Given the description of an element on the screen output the (x, y) to click on. 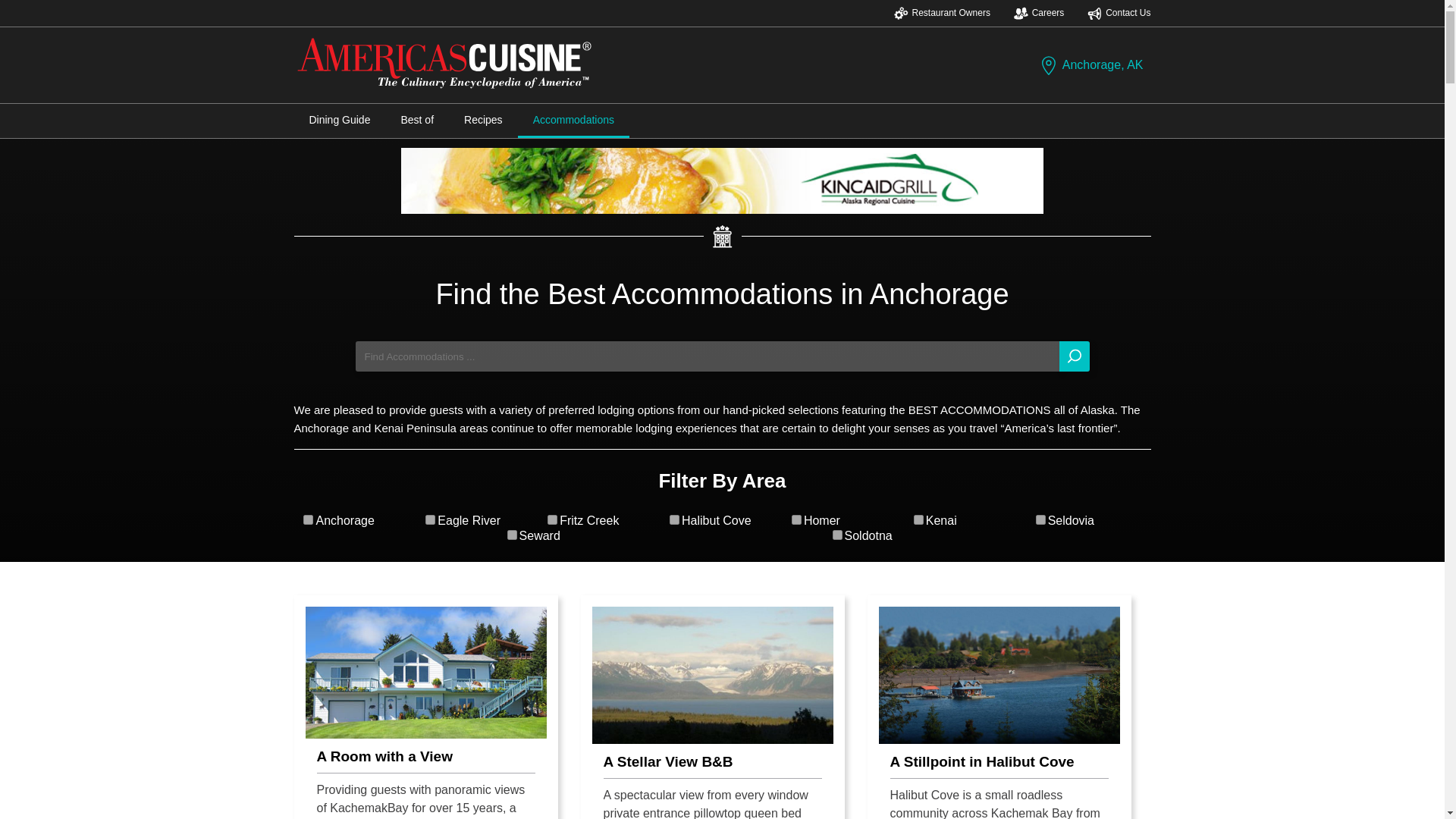
Recipes (483, 119)
Dining Guide (339, 119)
Restaurant Owners (941, 12)
on (674, 519)
View All (721, 572)
on (797, 519)
on (511, 534)
on (918, 519)
icon-search (1073, 356)
